Given the description of an element on the screen output the (x, y) to click on. 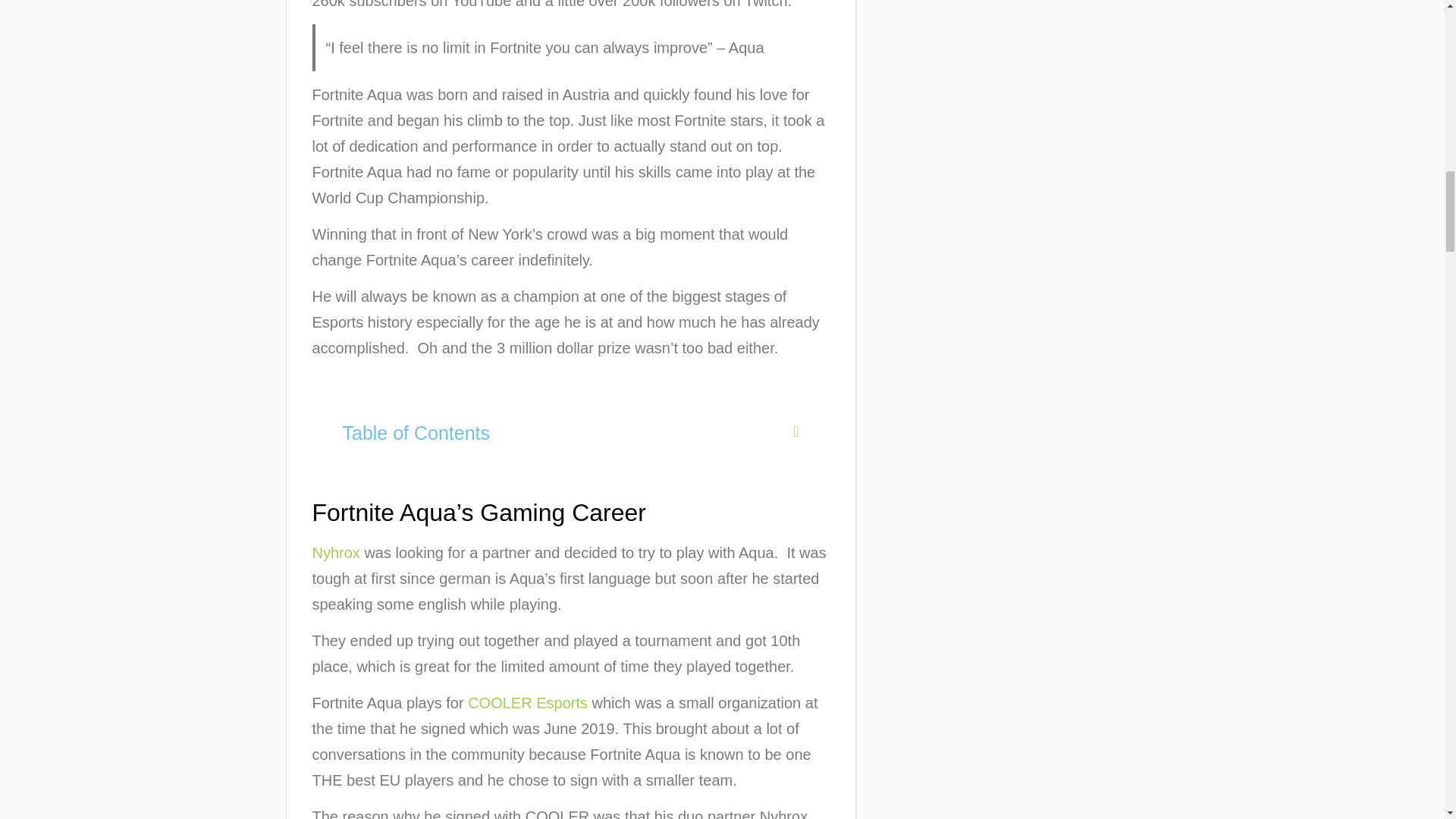
Nyhrox (336, 552)
COOLER Esports (527, 702)
